Given the description of an element on the screen output the (x, y) to click on. 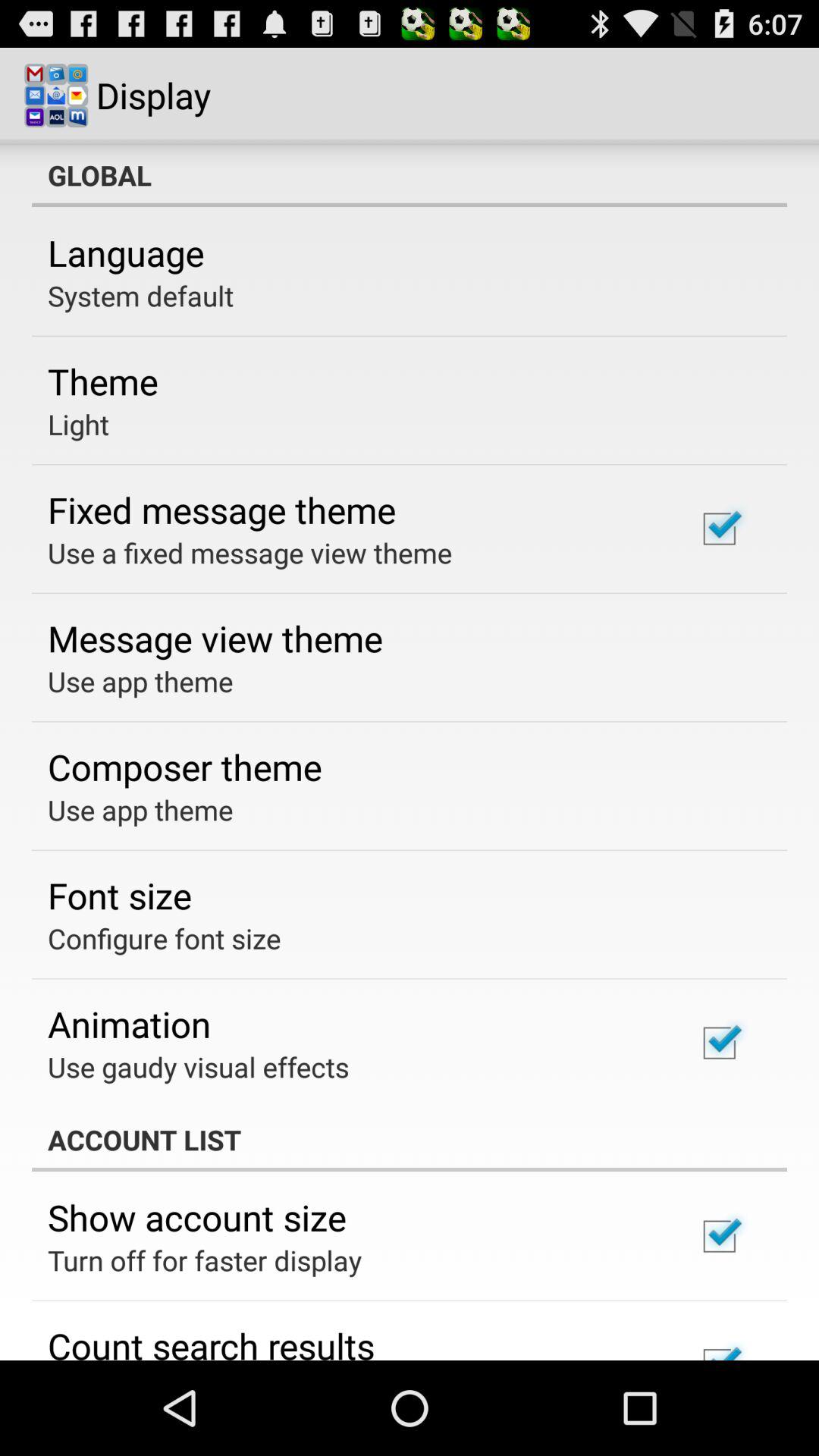
click account list item (409, 1139)
